Given the description of an element on the screen output the (x, y) to click on. 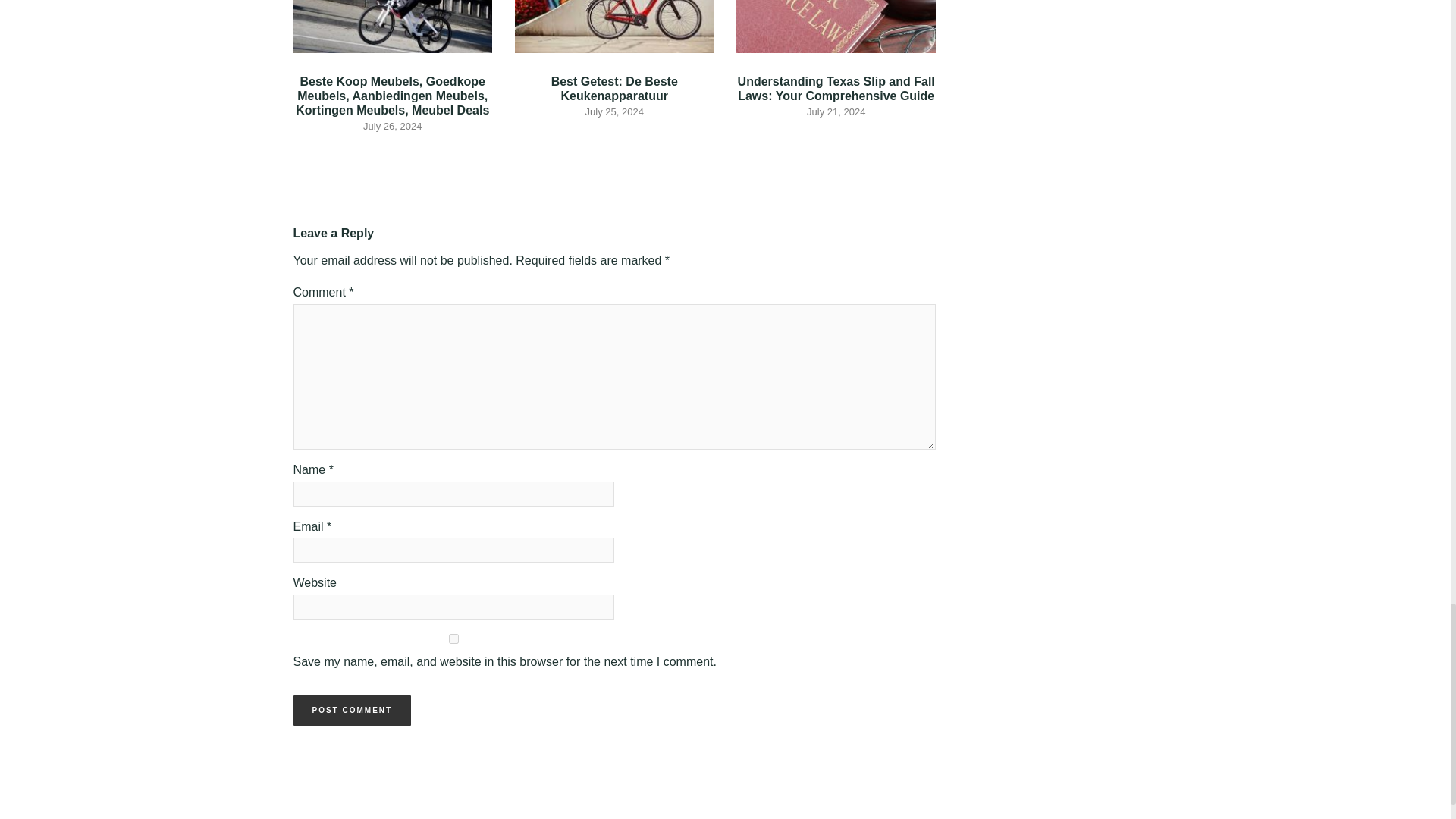
Best Getest: De Beste Keukenapparatuur (614, 88)
Post Comment (351, 710)
Best Getest: De Beste Keukenapparatuur (614, 88)
Post Comment (351, 710)
yes (453, 638)
